Given the description of an element on the screen output the (x, y) to click on. 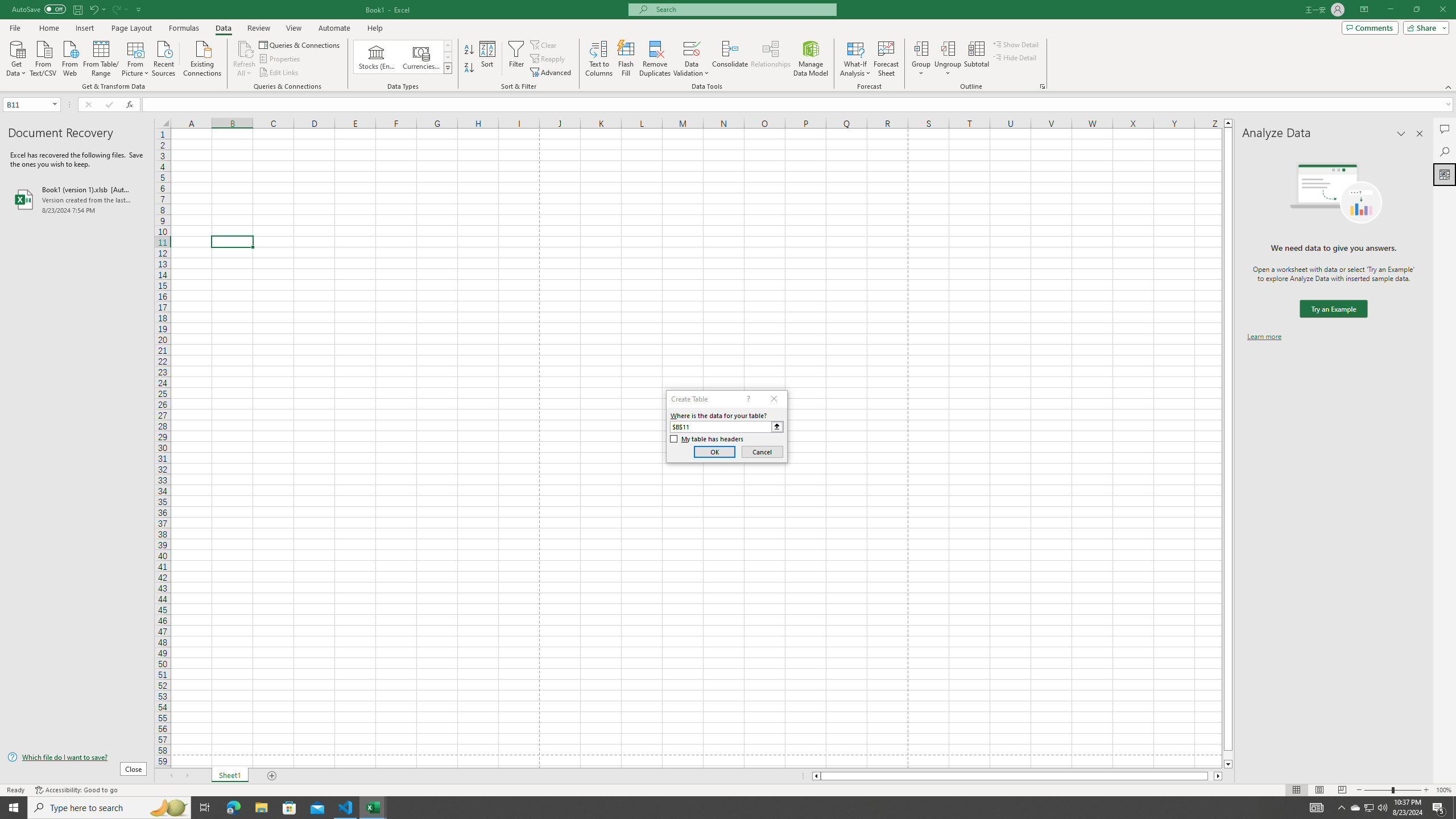
From Picture (135, 57)
Learn more (1264, 336)
Queries & Connections (300, 44)
